Given the description of an element on the screen output the (x, y) to click on. 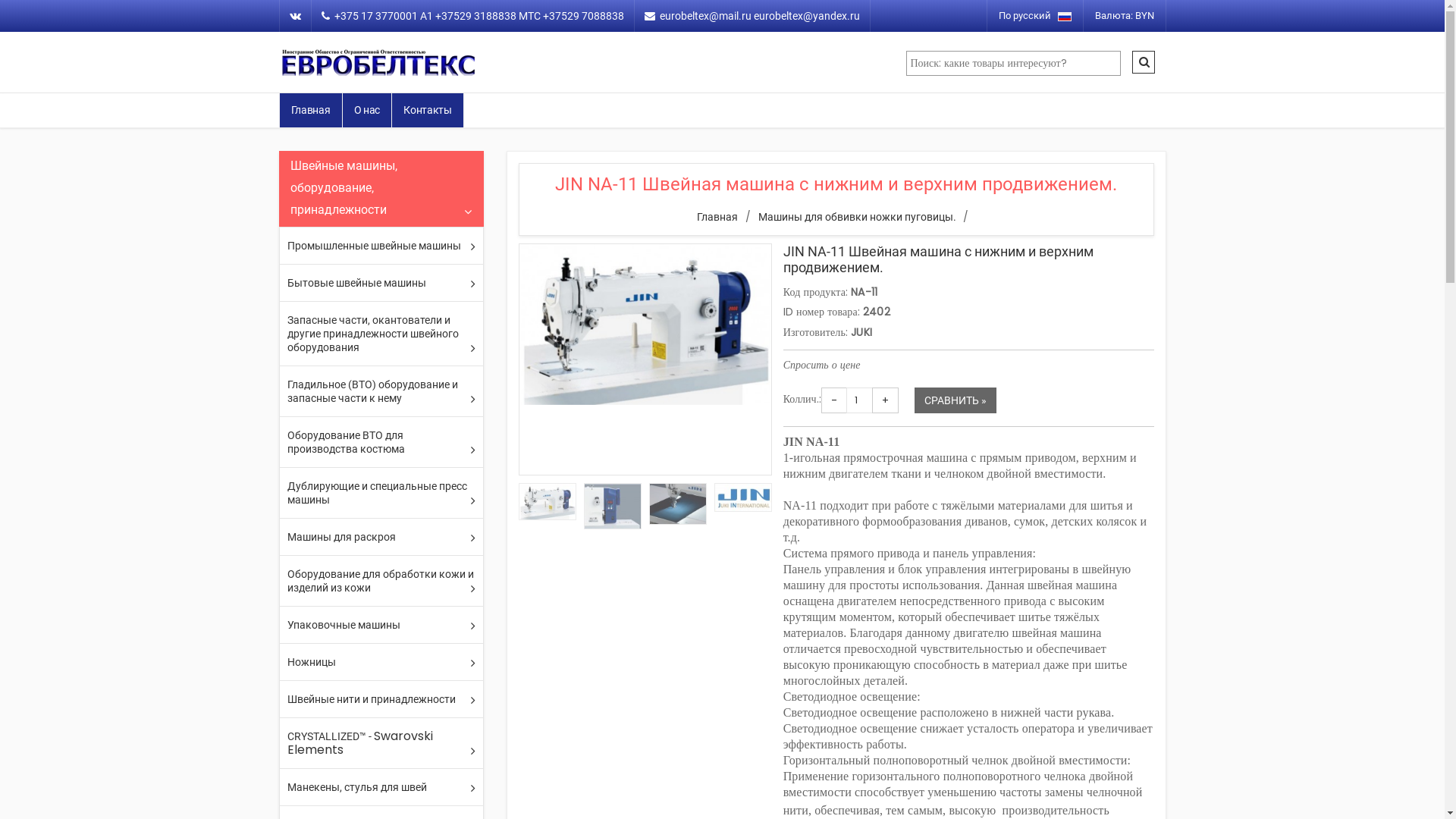
+ Element type: text (885, 400)
- Element type: text (834, 400)
  eurobeltex@mail.ru eurobeltex@yandex.ru Element type: text (751, 15)
